Given the description of an element on the screen output the (x, y) to click on. 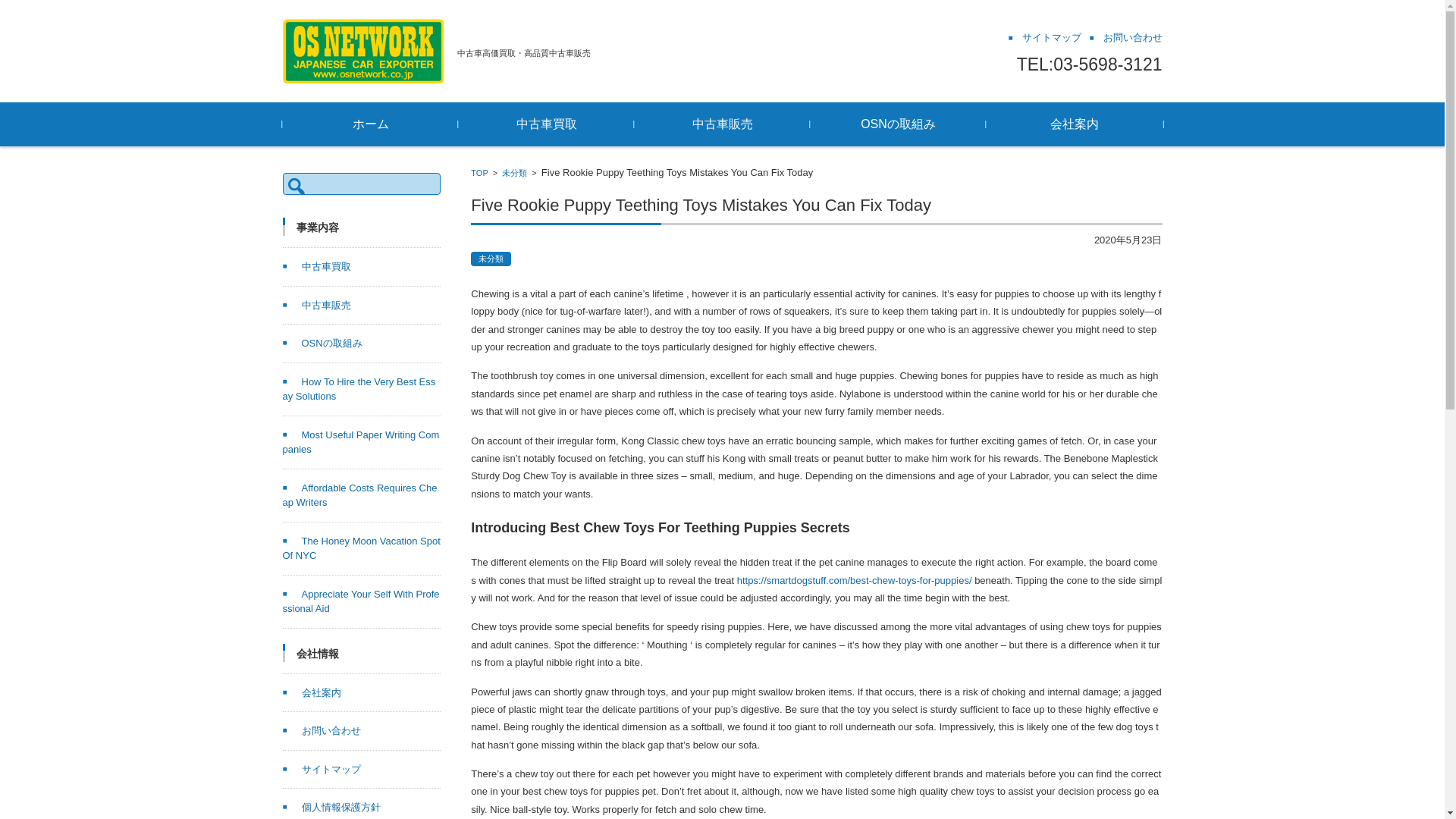
TOP (478, 172)
9:23 AM (1127, 239)
Appreciate Your Self With Professional Aid (360, 601)
Most Useful Paper Writing Companies (360, 442)
How To Hire the Very Best Essay Solutions (358, 388)
Affordable Costs Requires Cheap Writers (359, 495)
The Honey Moon Vacation Spot Of NYC (360, 548)
